Given the description of an element on the screen output the (x, y) to click on. 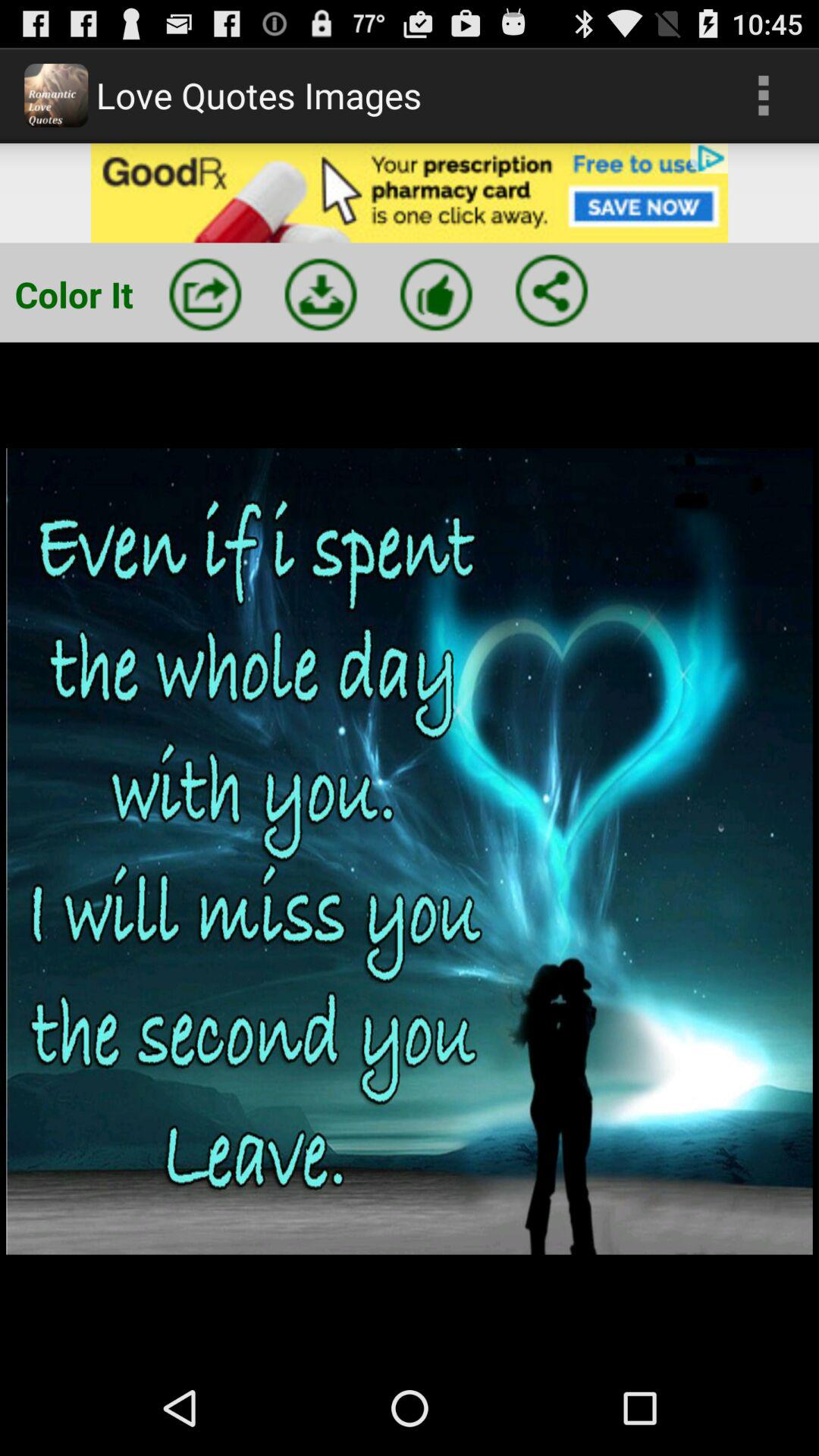
share image (205, 294)
